Given the description of an element on the screen output the (x, y) to click on. 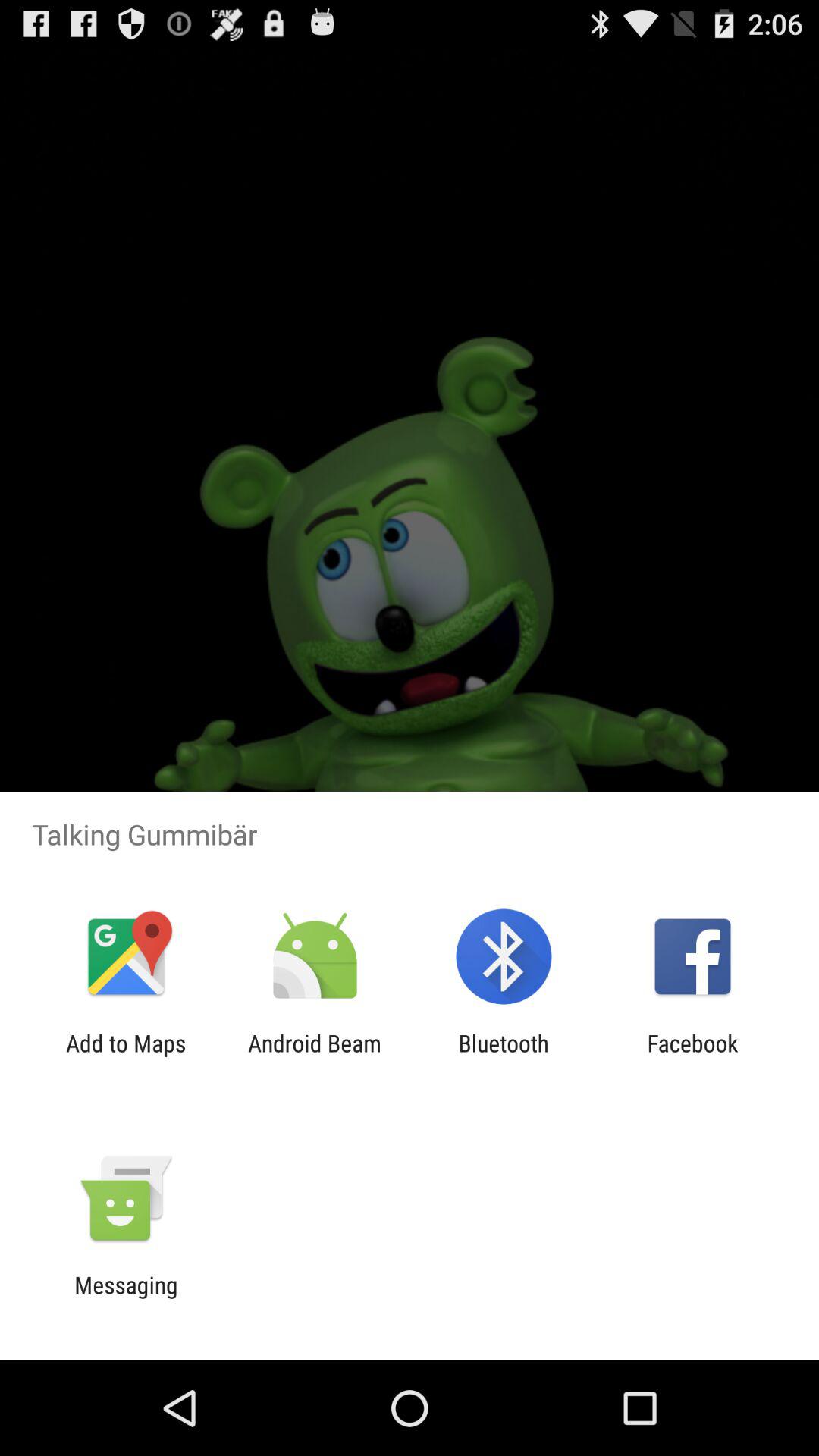
flip to the facebook app (692, 1056)
